Given the description of an element on the screen output the (x, y) to click on. 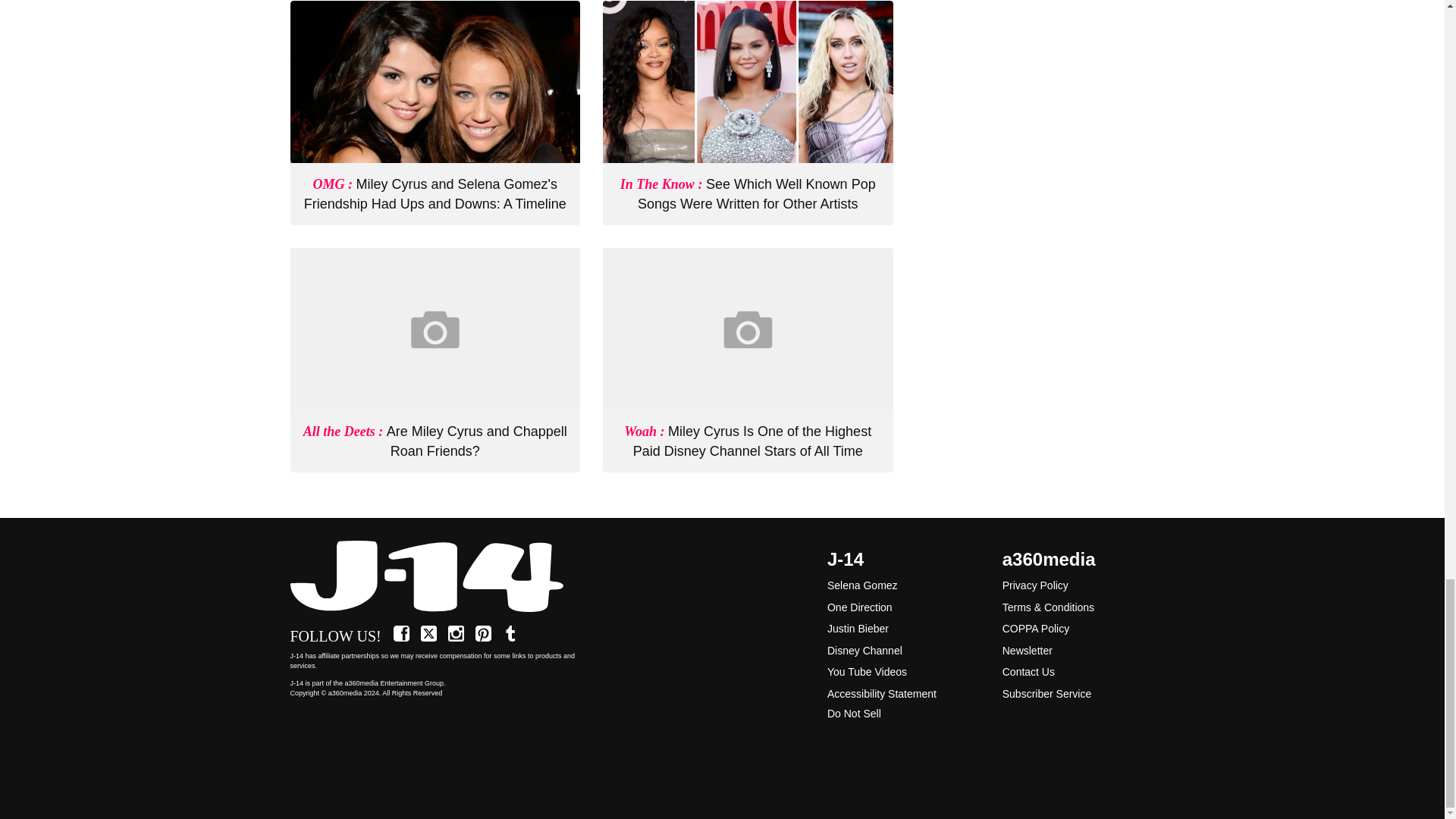
Home (434, 577)
